Given the description of an element on the screen output the (x, y) to click on. 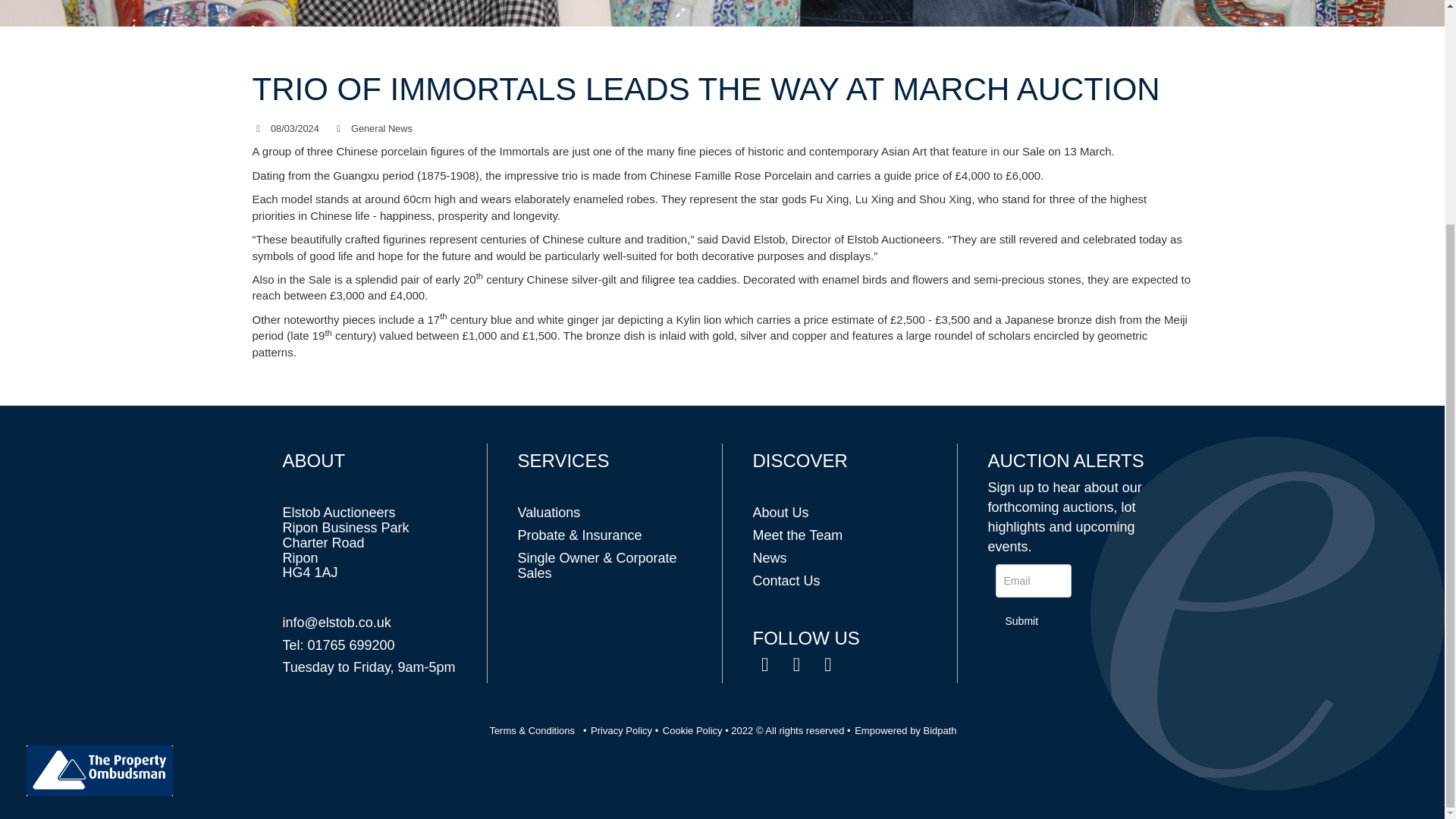
About Us (780, 512)
Contact Us (785, 580)
Submit (1021, 621)
News (769, 557)
Meet the Team (797, 534)
Tel: 01765 699200 (338, 645)
Valuations (547, 512)
Go to our instagram page (829, 666)
Submit (1021, 621)
Go to our facebook page (766, 666)
